Given the description of an element on the screen output the (x, y) to click on. 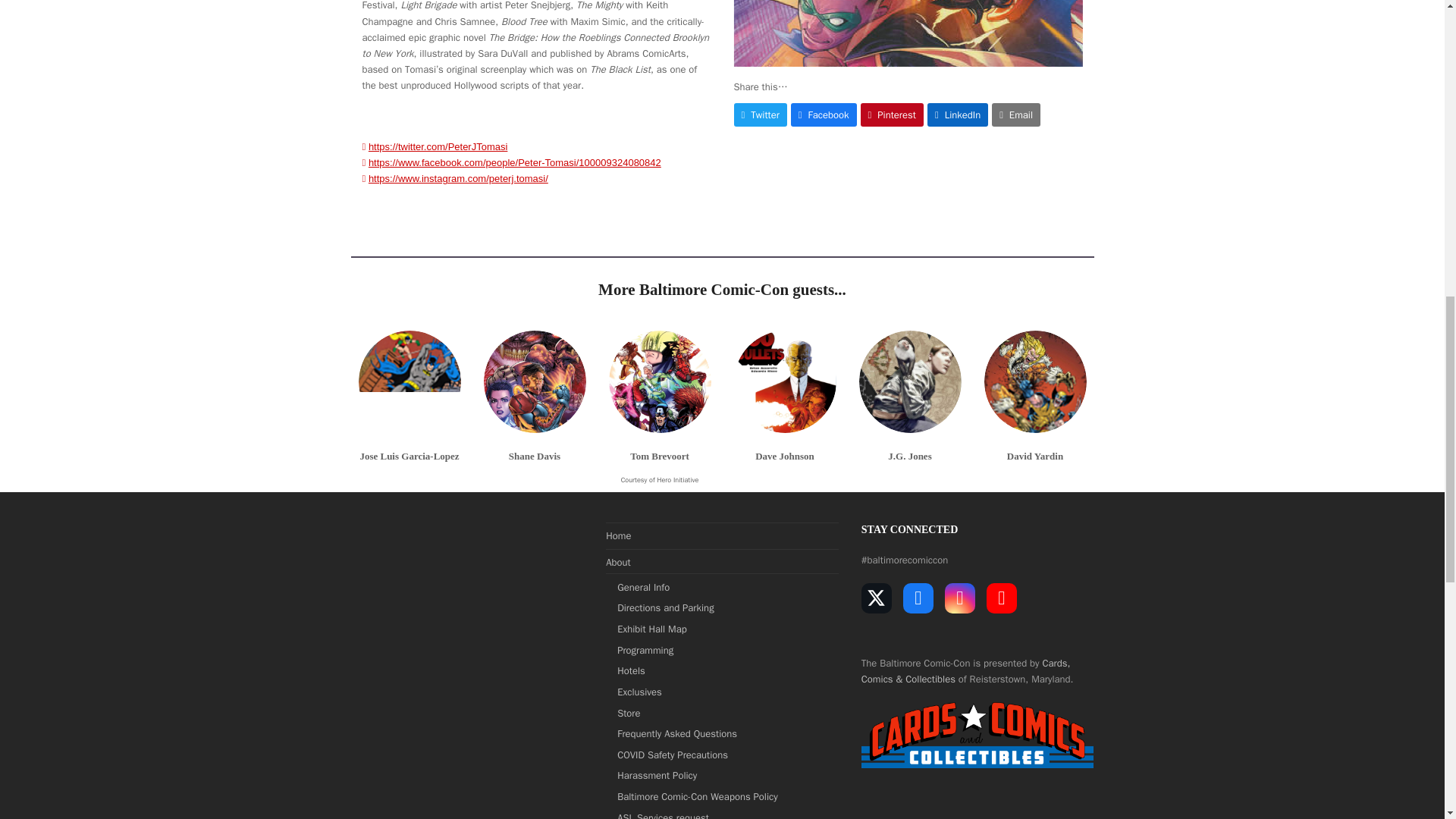
Shane Davis (534, 381)
Shane Davis (535, 381)
Jose Luis Garcia-Lopez (408, 455)
Jose Luis Garcia-Lopez (408, 381)
Jose Luis Garcia-Lopez (409, 381)
